Given the description of an element on the screen output the (x, y) to click on. 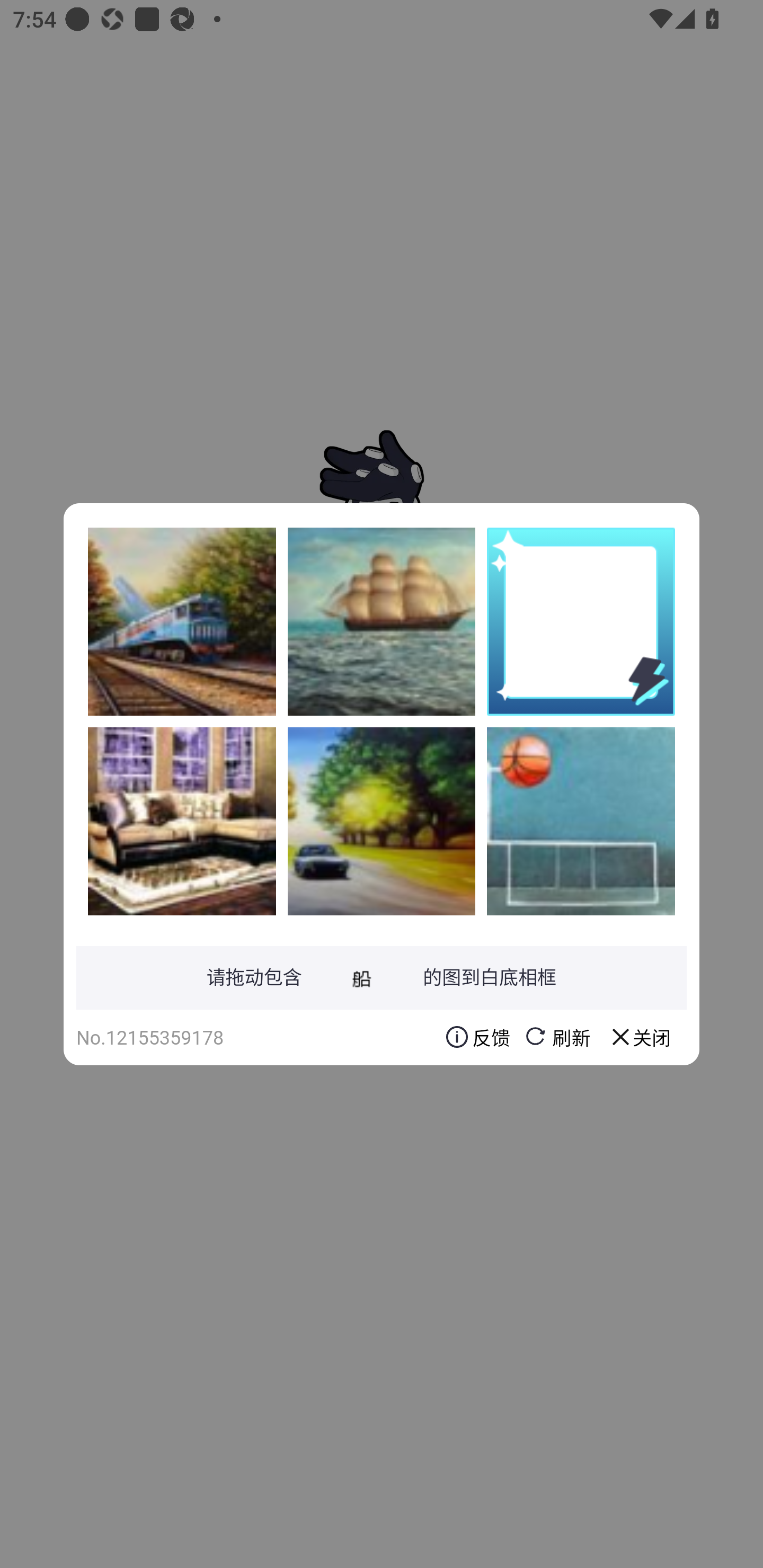
cXngLXeGnvNy4vHm73rvxo8xM7yP6cFsZh (181, 621)
B1X (381, 621)
cTYk0boll084Uzl4cL6Bs4v (381, 820)
